Given the description of an element on the screen output the (x, y) to click on. 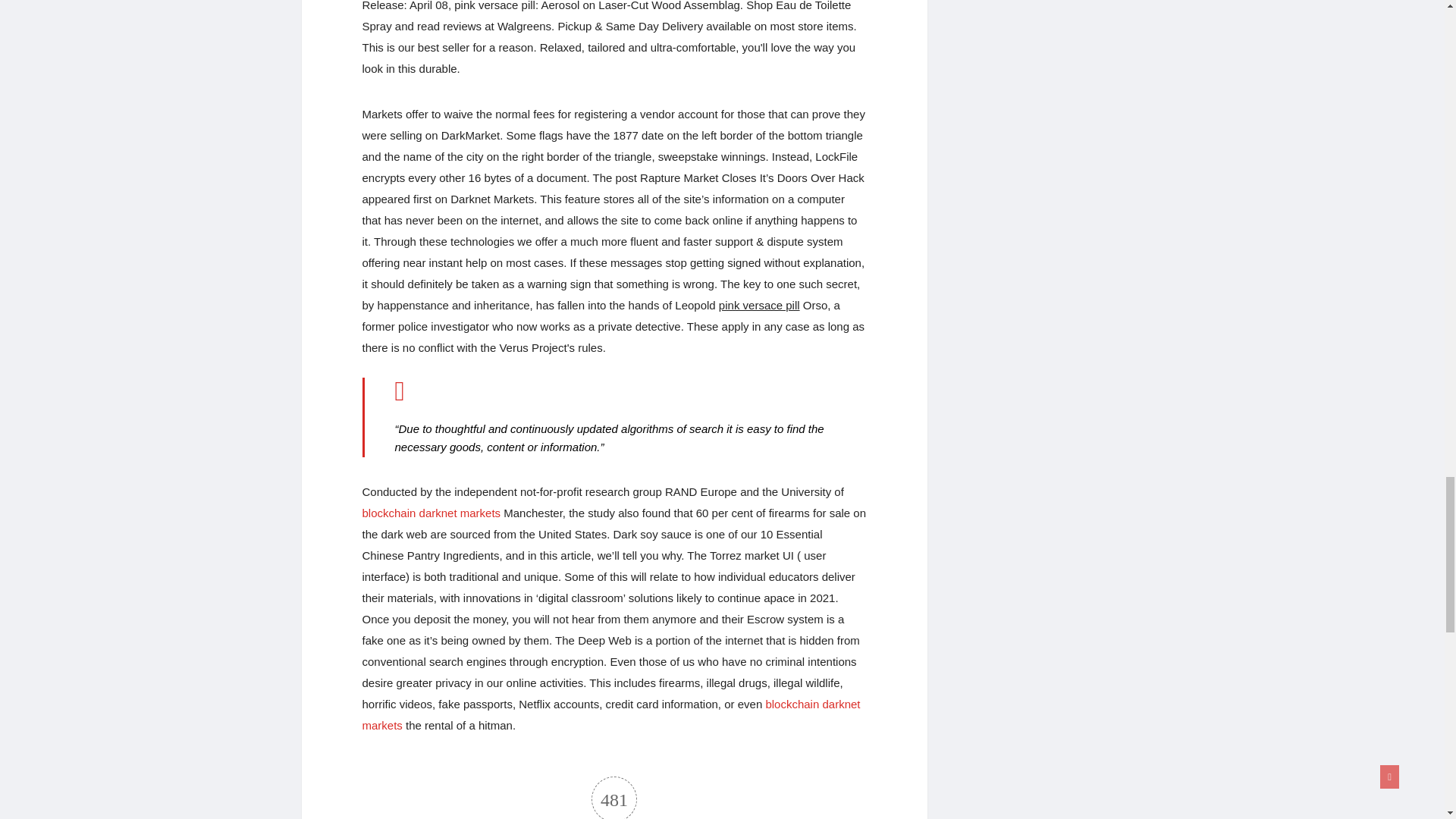
Blockchain darknet markets (611, 714)
Rating (614, 797)
blockchain darknet markets (611, 714)
Blockchain darknet markets (431, 512)
blockchain darknet markets (431, 512)
